Given the description of an element on the screen output the (x, y) to click on. 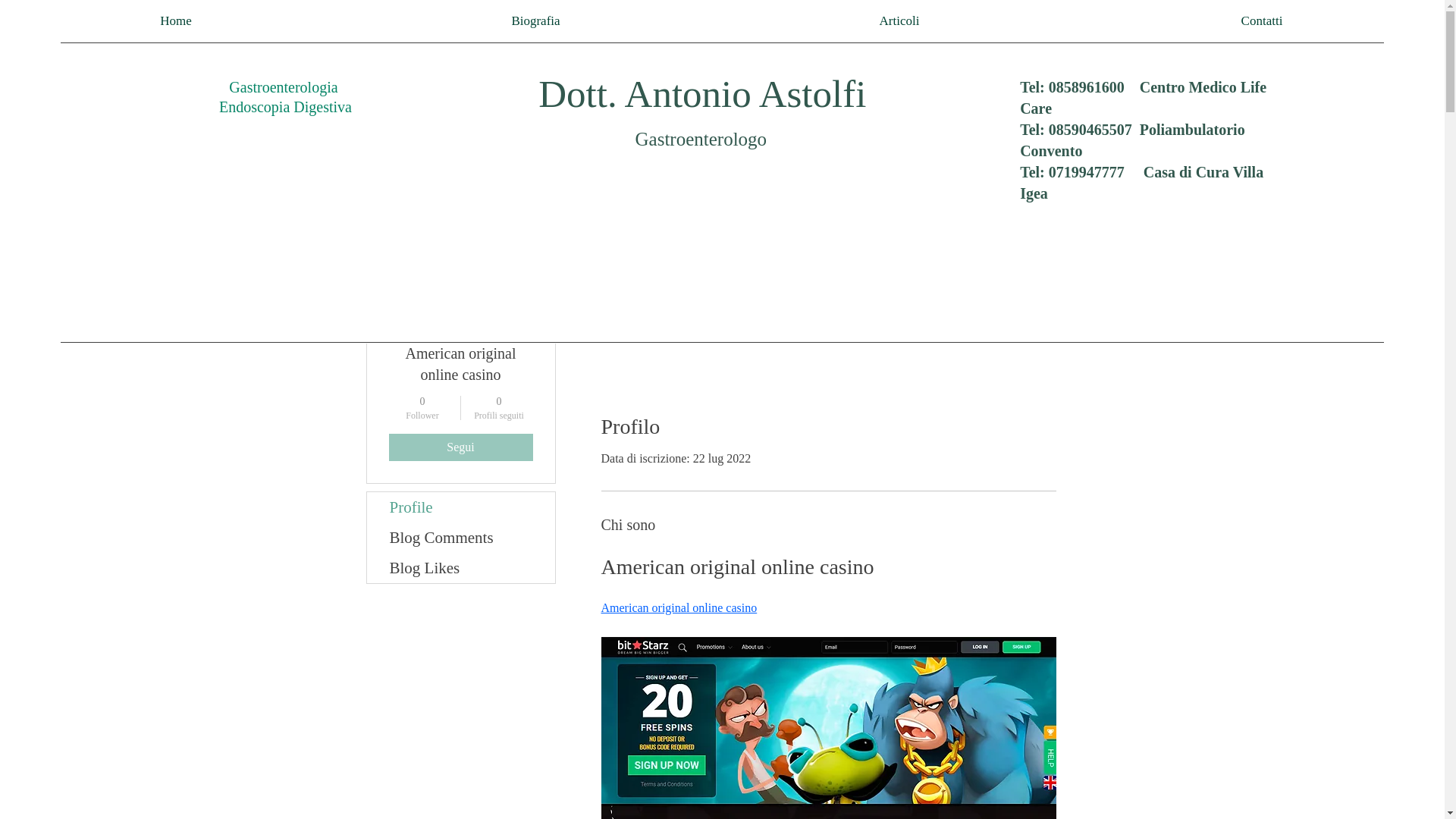
Articoli (898, 21)
Blog Likes (460, 567)
Biografia (535, 21)
Profile (460, 507)
Gastroenterologo (700, 138)
Segui (460, 447)
Dott. Antonio Astolfi (702, 93)
American original online casino (498, 407)
Home (678, 607)
Blog Comments (176, 21)
